Given the description of an element on the screen output the (x, y) to click on. 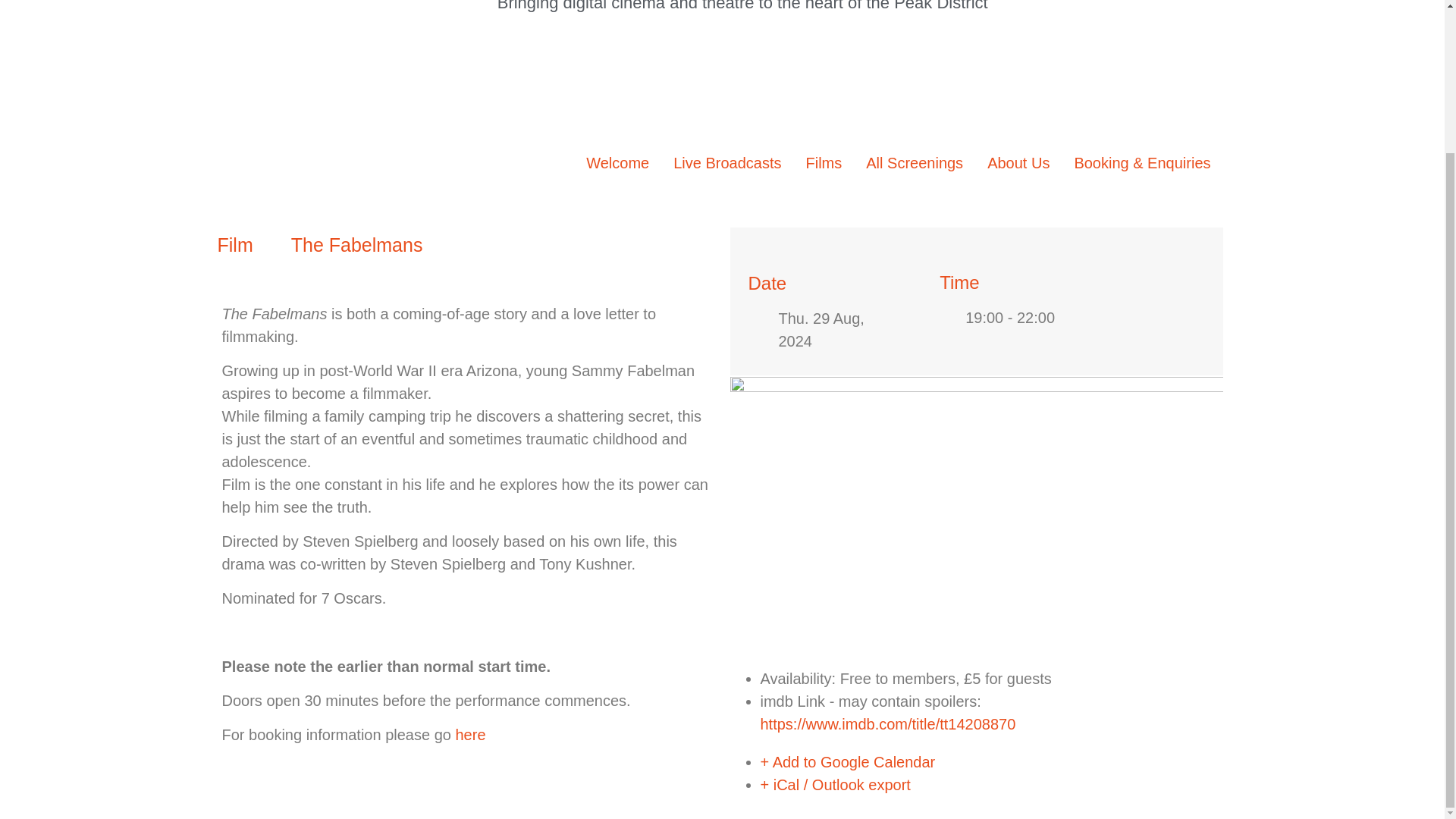
About Us (1018, 162)
All Screenings (914, 162)
Live Broadcasts (727, 162)
Films (823, 162)
Welcome (617, 162)
here (469, 734)
